Given the description of an element on the screen output the (x, y) to click on. 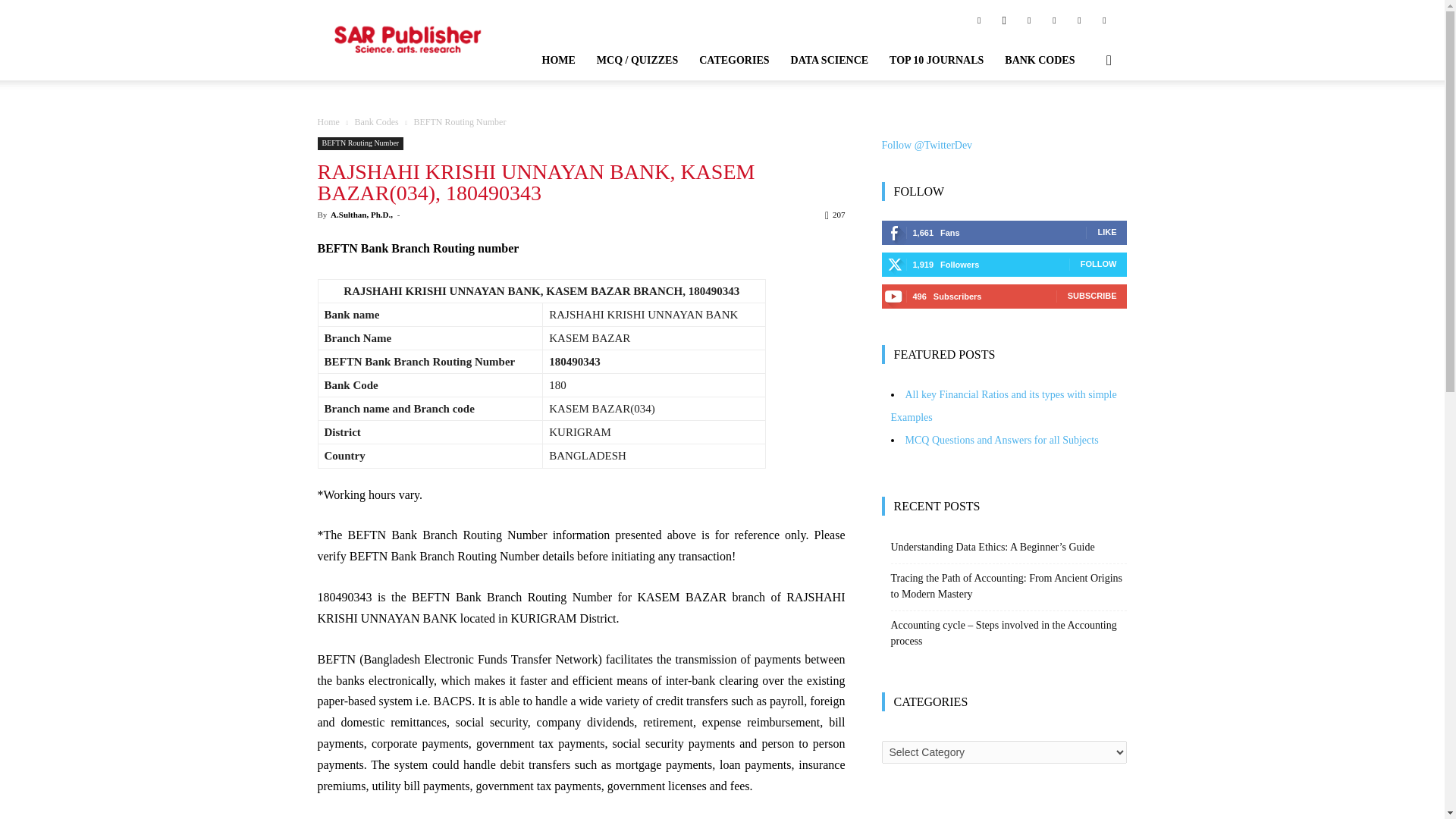
Facebook (979, 19)
Twitter (1078, 19)
Linkedin (1029, 19)
Youtube (1104, 19)
Instagram (1003, 19)
RSS (1053, 19)
